Given the description of an element on the screen output the (x, y) to click on. 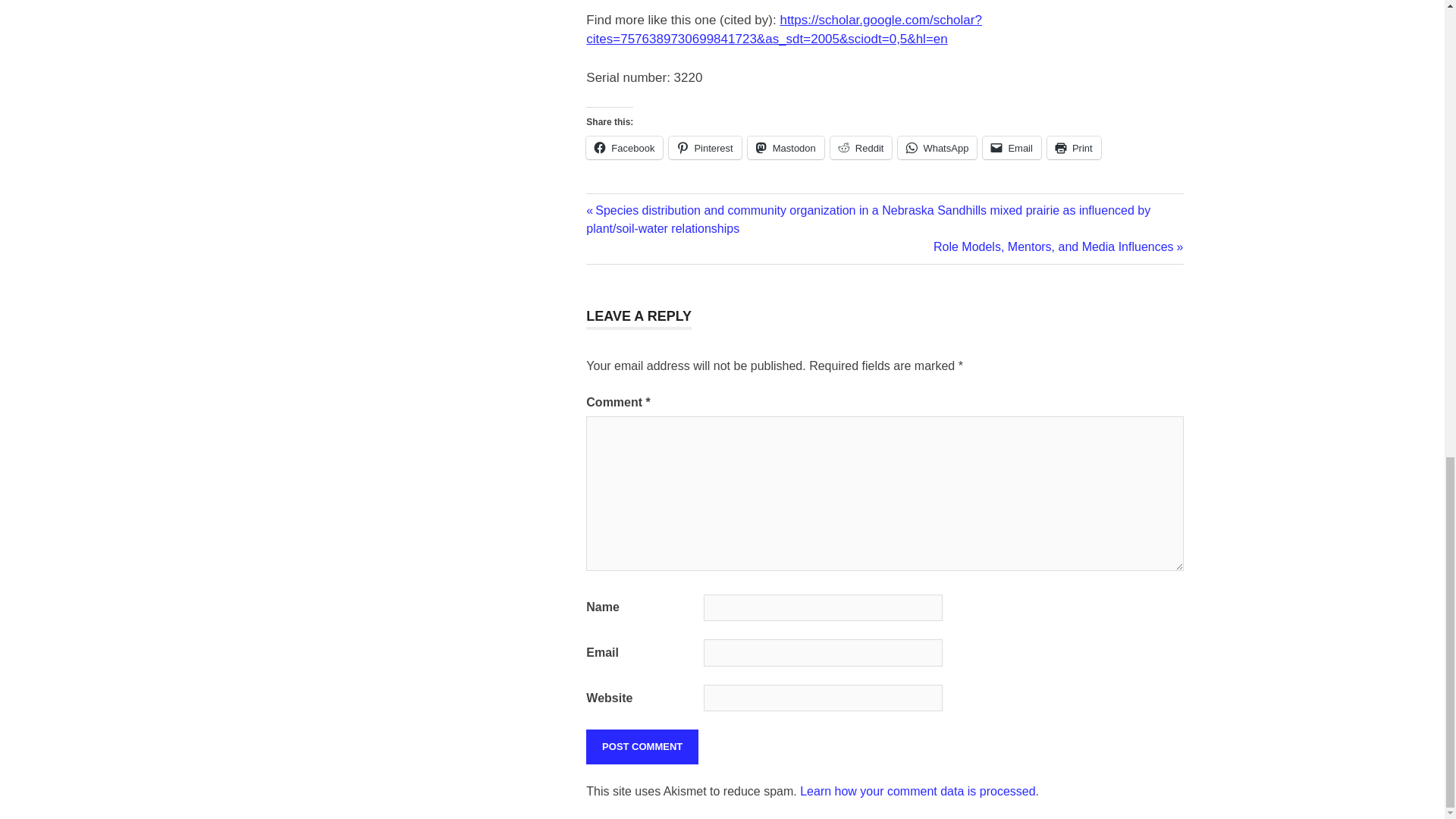
Post Comment (642, 746)
Click to print (1073, 147)
Click to share on Facebook (624, 147)
Mastodon (786, 147)
Click to share on WhatsApp (937, 147)
WhatsApp (937, 147)
Click to email a link to a friend (1011, 147)
Click to share on Pinterest (704, 147)
Facebook (624, 147)
Pinterest (704, 147)
